Given the description of an element on the screen output the (x, y) to click on. 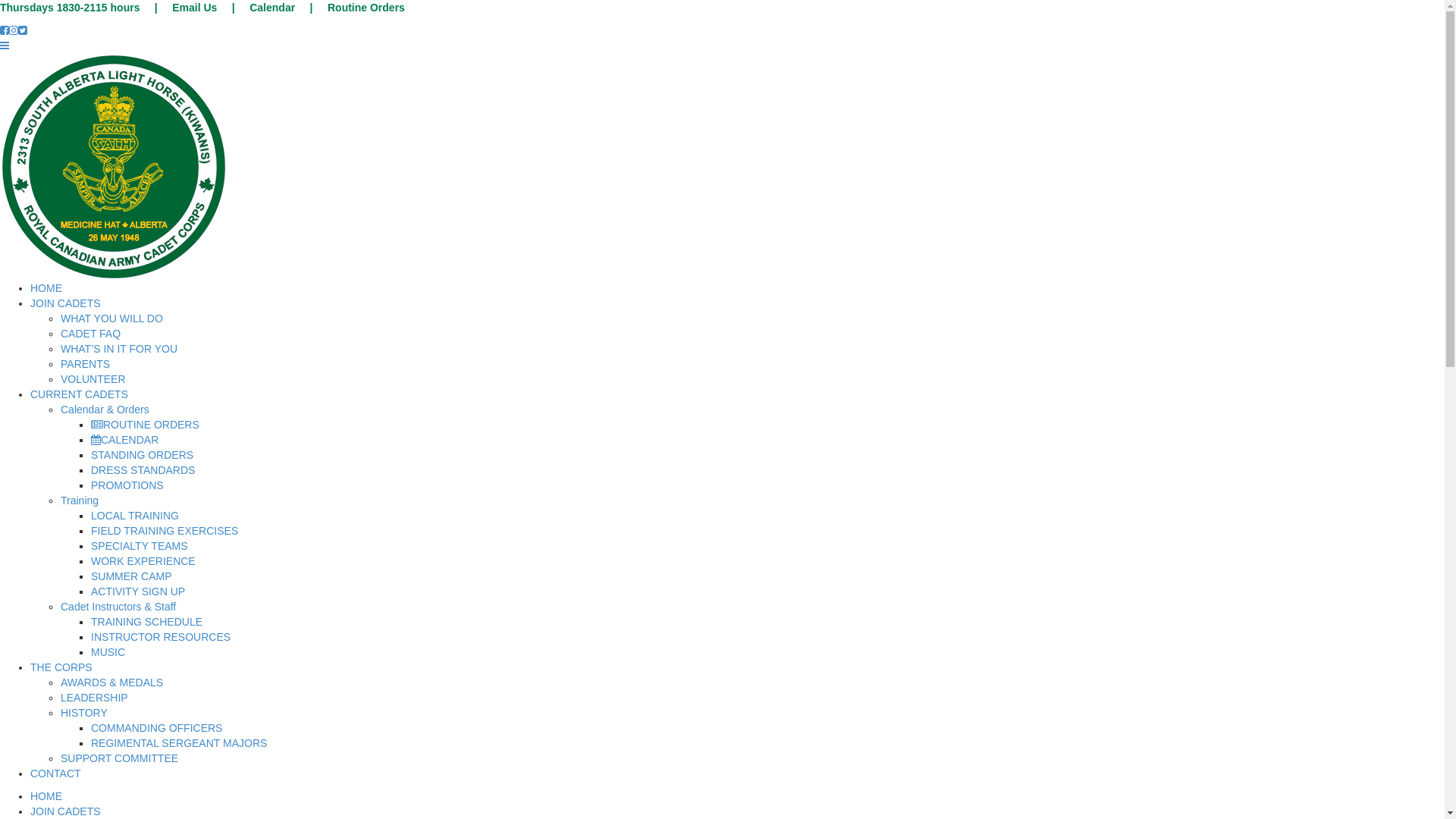
SPECIALTY TEAMS Element type: text (139, 545)
AWARDS & MEDALS Element type: text (111, 682)
JOIN CADETS Element type: text (65, 303)
Training Element type: text (79, 500)
Email Us Element type: text (194, 7)
MUSIC Element type: text (108, 652)
CURRENT CADETS Element type: text (79, 394)
STANDING ORDERS Element type: text (142, 454)
Calendar & Orders Element type: text (104, 409)
HOME Element type: text (46, 796)
LOCAL TRAINING Element type: text (134, 515)
THE CORPS Element type: text (61, 667)
CONTACT Element type: text (55, 773)
ACTIVITY SIGN UP Element type: text (138, 591)
REGIMENTAL SERGEANT MAJORS Element type: text (178, 743)
VOLUNTEER Element type: text (92, 379)
HOME Element type: text (46, 288)
Calendar Element type: text (271, 7)
DRESS STANDARDS Element type: text (142, 470)
JOIN CADETS Element type: text (65, 811)
INSTRUCTOR RESOURCES Element type: text (160, 636)
CALENDAR Element type: text (124, 439)
SUPPORT COMMITTEE Element type: text (119, 758)
WHAT YOU WILL DO Element type: text (111, 318)
Cadet Instructors & Staff Element type: text (117, 606)
ROUTINE ORDERS Element type: text (145, 424)
SUMMER CAMP Element type: text (131, 576)
PARENTS Element type: text (84, 363)
LEADERSHIP Element type: text (94, 697)
PROMOTIONS Element type: text (127, 485)
WORK EXPERIENCE Element type: text (143, 561)
HISTORY Element type: text (83, 712)
COMMANDING OFFICERS Element type: text (156, 727)
Thursdays 1830-2115 hours Element type: text (69, 7)
FIELD TRAINING EXERCISES Element type: text (164, 530)
TRAINING SCHEDULE Element type: text (146, 621)
CADET FAQ Element type: text (90, 333)
Routine Orders Element type: text (365, 7)
